Given the description of an element on the screen output the (x, y) to click on. 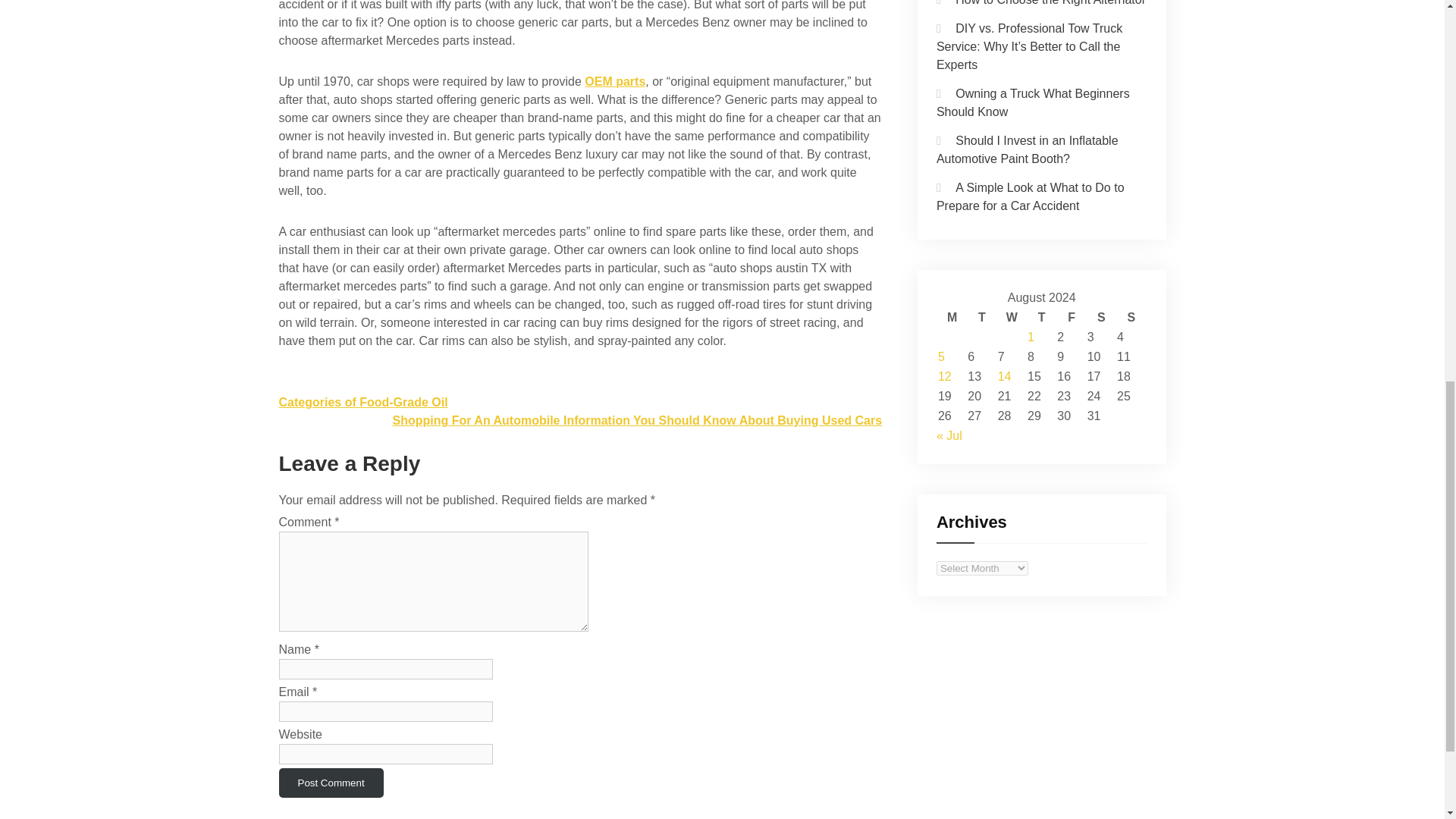
14 (1004, 376)
Sunday (1130, 317)
Post Comment (331, 782)
Friday (1070, 317)
Thursday (1041, 317)
Wednesday (1011, 317)
Post Comment (331, 782)
Monday (951, 317)
OEM parts (615, 81)
Tuesday (981, 317)
